Given the description of an element on the screen output the (x, y) to click on. 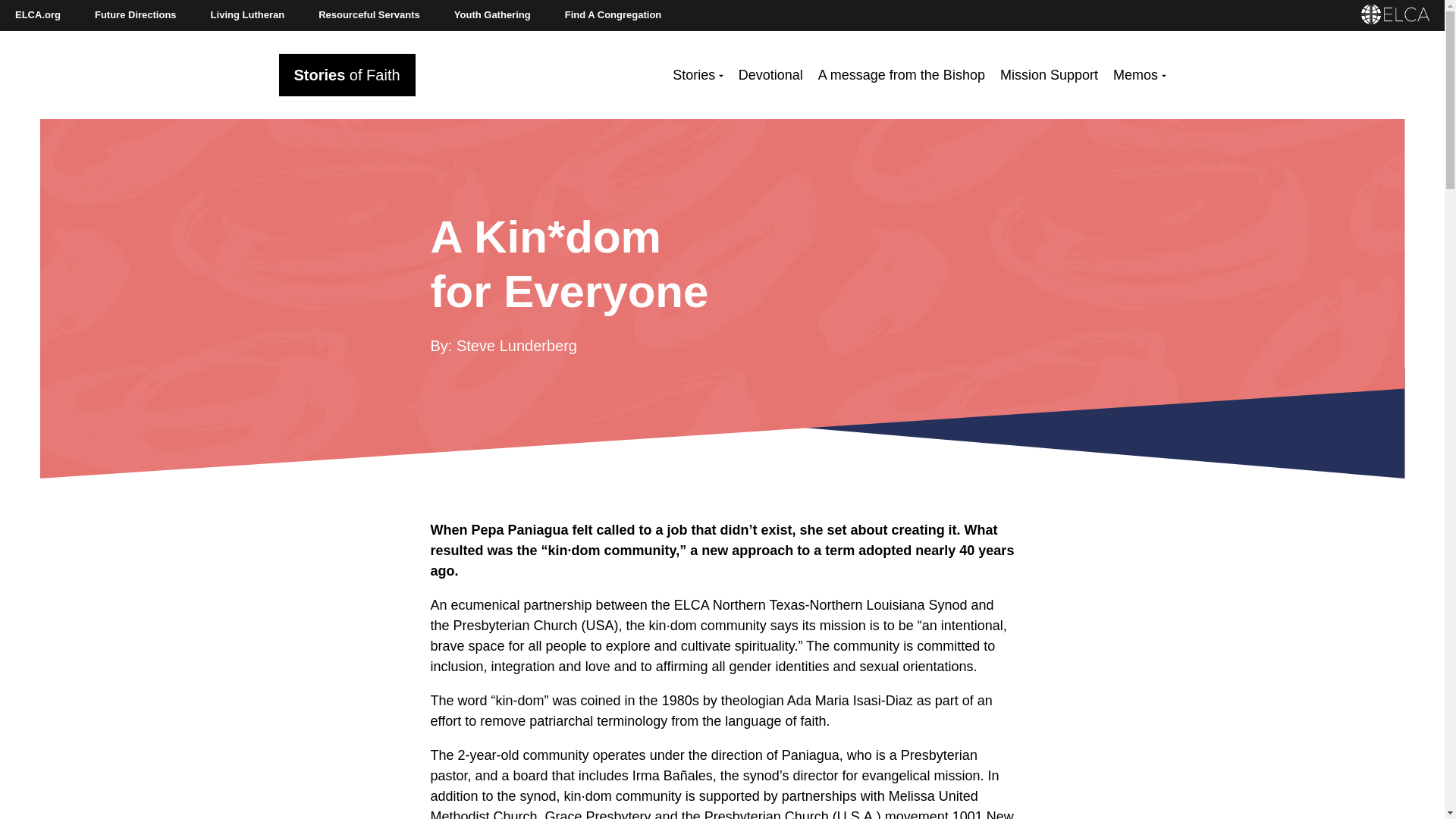
Stories (697, 75)
Youth Gathering (492, 15)
Memos (1139, 75)
Living Lutheran (247, 15)
Mission Support (1048, 75)
Resourceful Servants (368, 15)
Devotional (770, 75)
Stories of Faith (346, 75)
ELCA.org (37, 15)
Future Directions (136, 15)
